Given the description of an element on the screen output the (x, y) to click on. 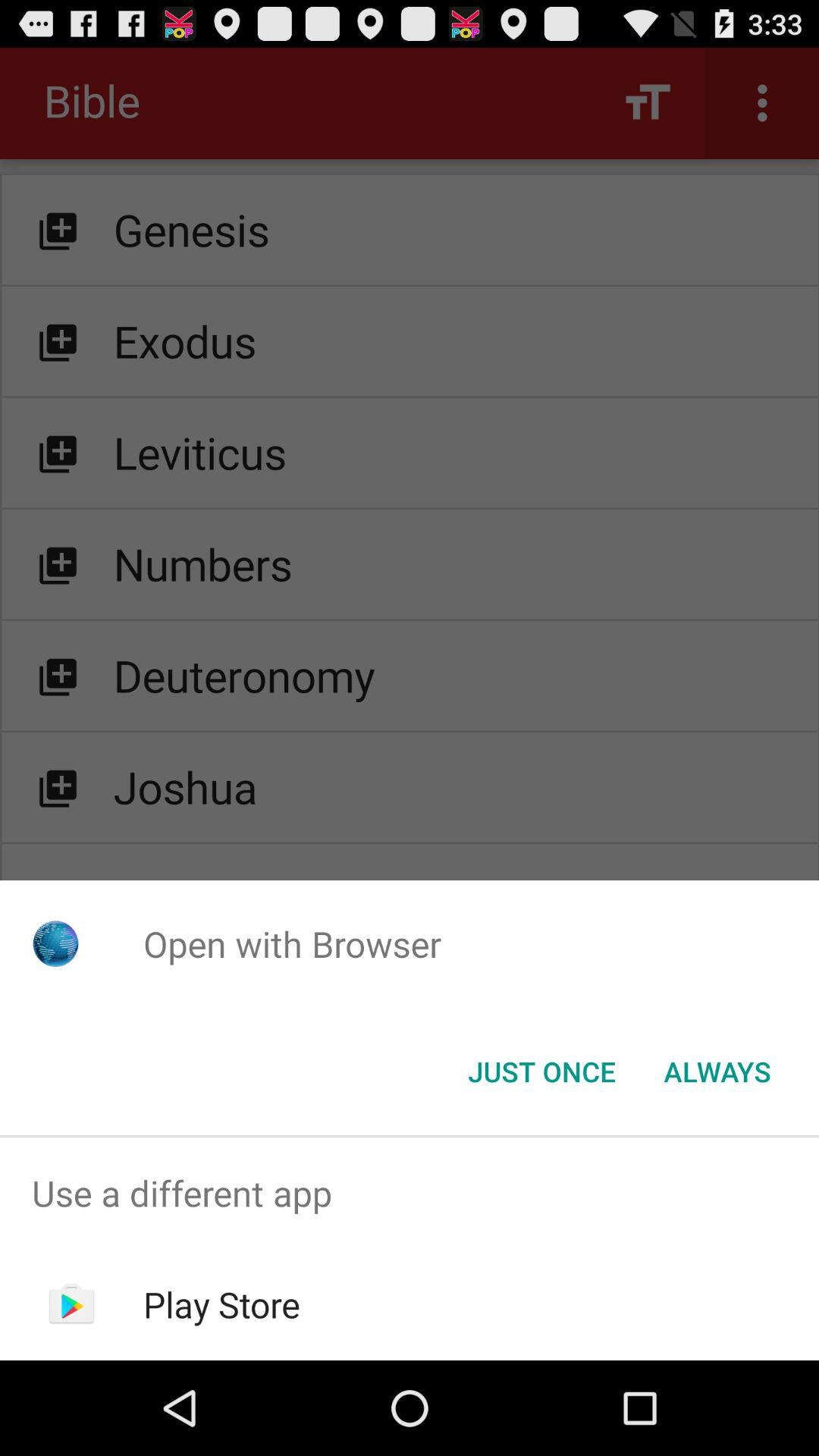
tap the item below use a different item (221, 1304)
